Given the description of an element on the screen output the (x, y) to click on. 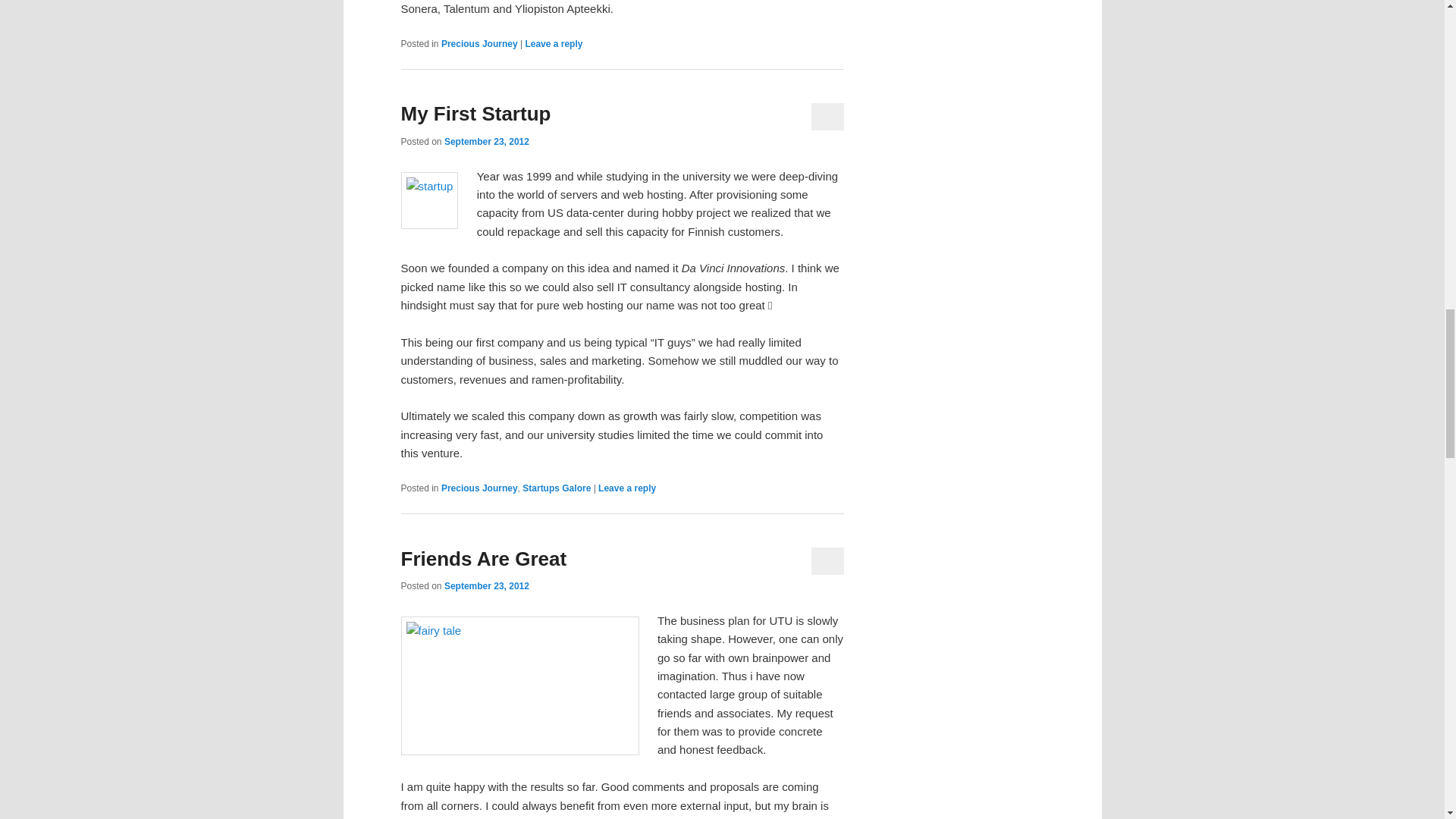
September 23, 2012 (486, 141)
My First Startup (475, 113)
Leave a reply (627, 488)
Startups Galore (556, 488)
Precious Journey (479, 43)
September 23, 2012 (486, 585)
16:03 (486, 141)
Friends Are Great (483, 558)
Leave a reply (553, 43)
Precious Journey (479, 488)
